Given the description of an element on the screen output the (x, y) to click on. 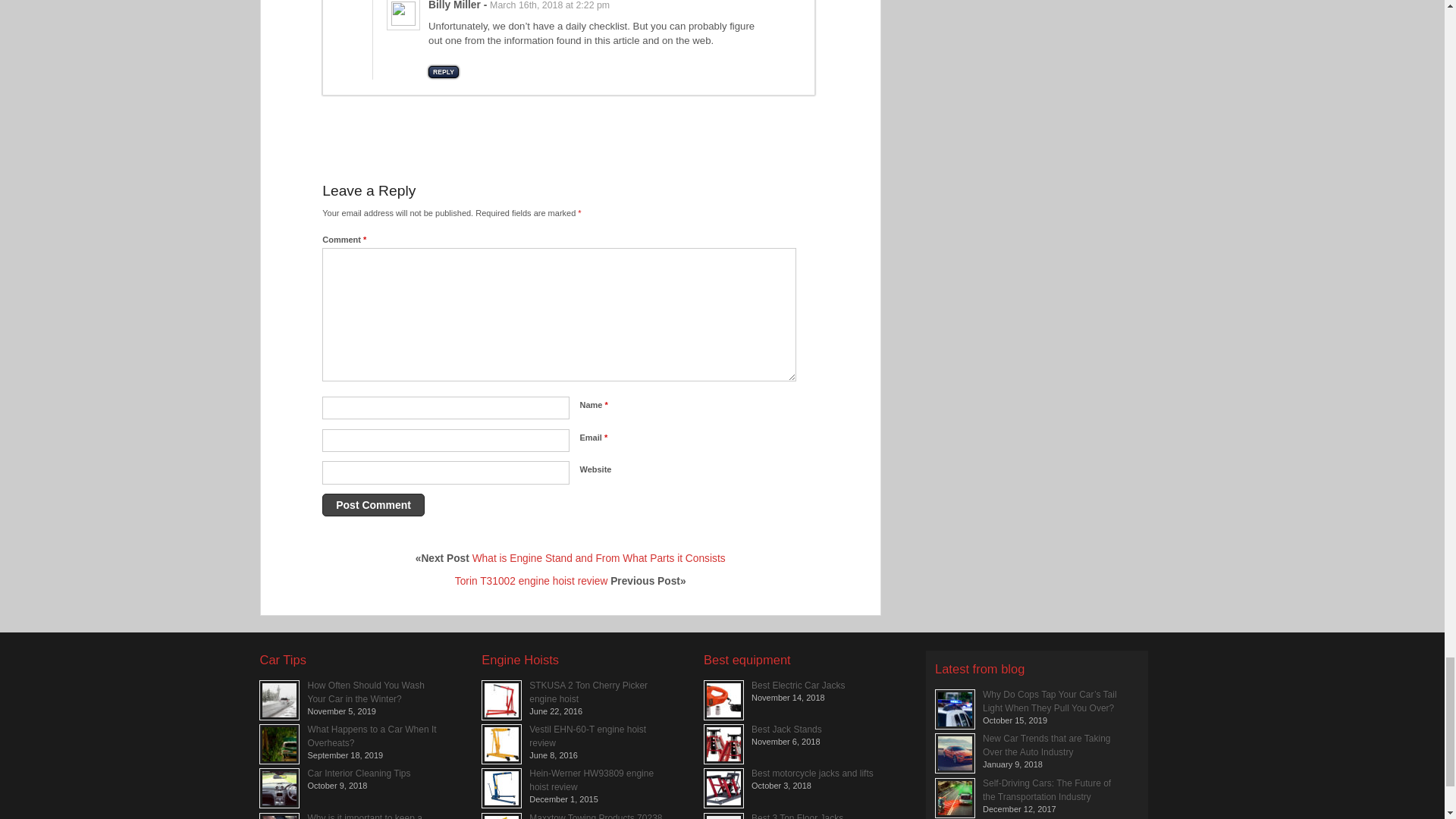
Post Comment (373, 504)
